Given the description of an element on the screen output the (x, y) to click on. 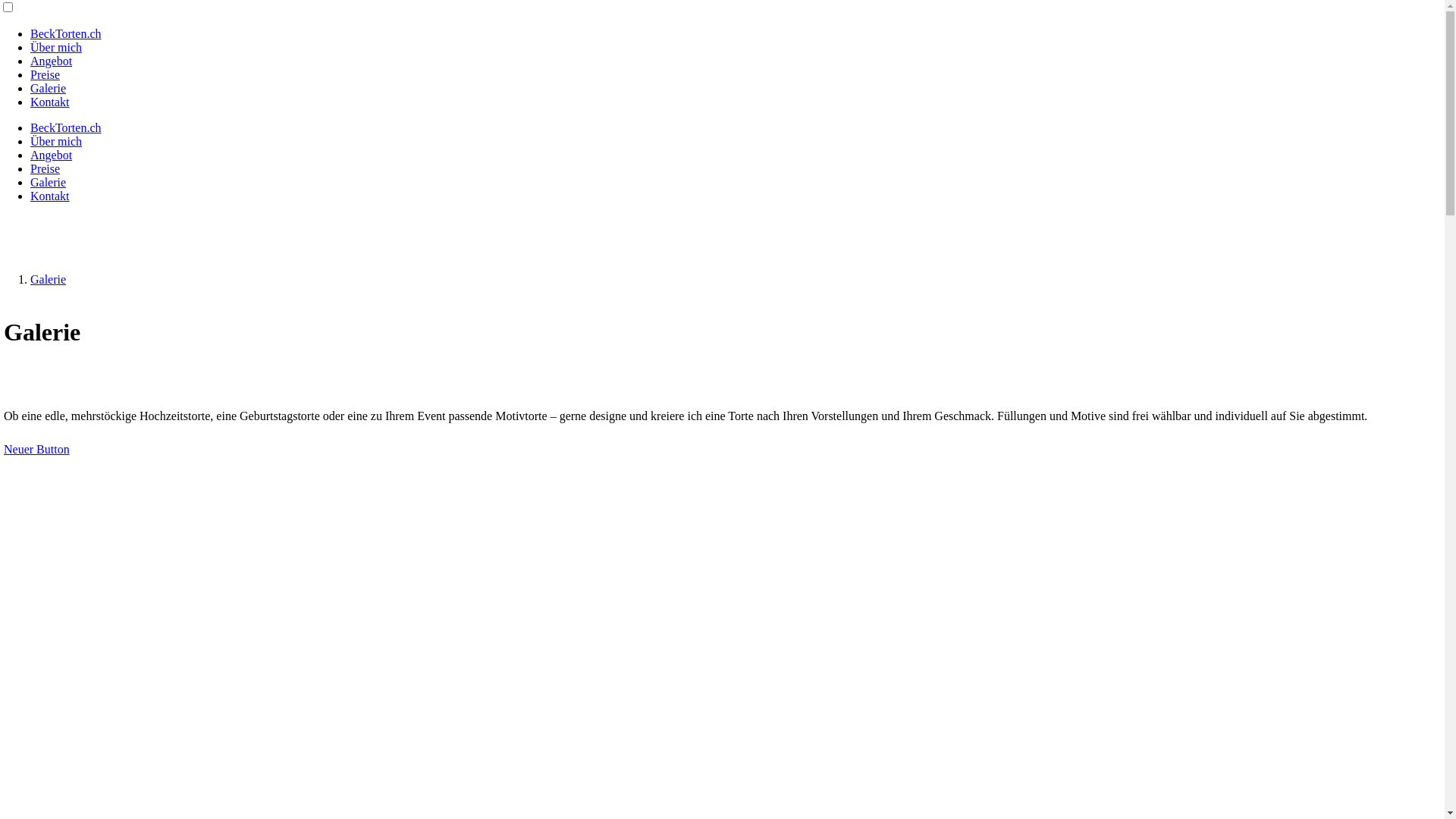
Galerie Element type: text (47, 87)
Preise Element type: text (44, 74)
Kontakt Element type: text (49, 101)
Neuer Button Element type: text (36, 448)
Angebot Element type: text (51, 154)
Galerie Element type: text (47, 279)
Angebot Element type: text (51, 60)
BeckTorten.ch Element type: text (65, 33)
Kontakt Element type: text (49, 195)
Preise Element type: text (44, 168)
Galerie Element type: text (47, 181)
BeckTorten.ch Element type: text (65, 127)
